Given the description of an element on the screen output the (x, y) to click on. 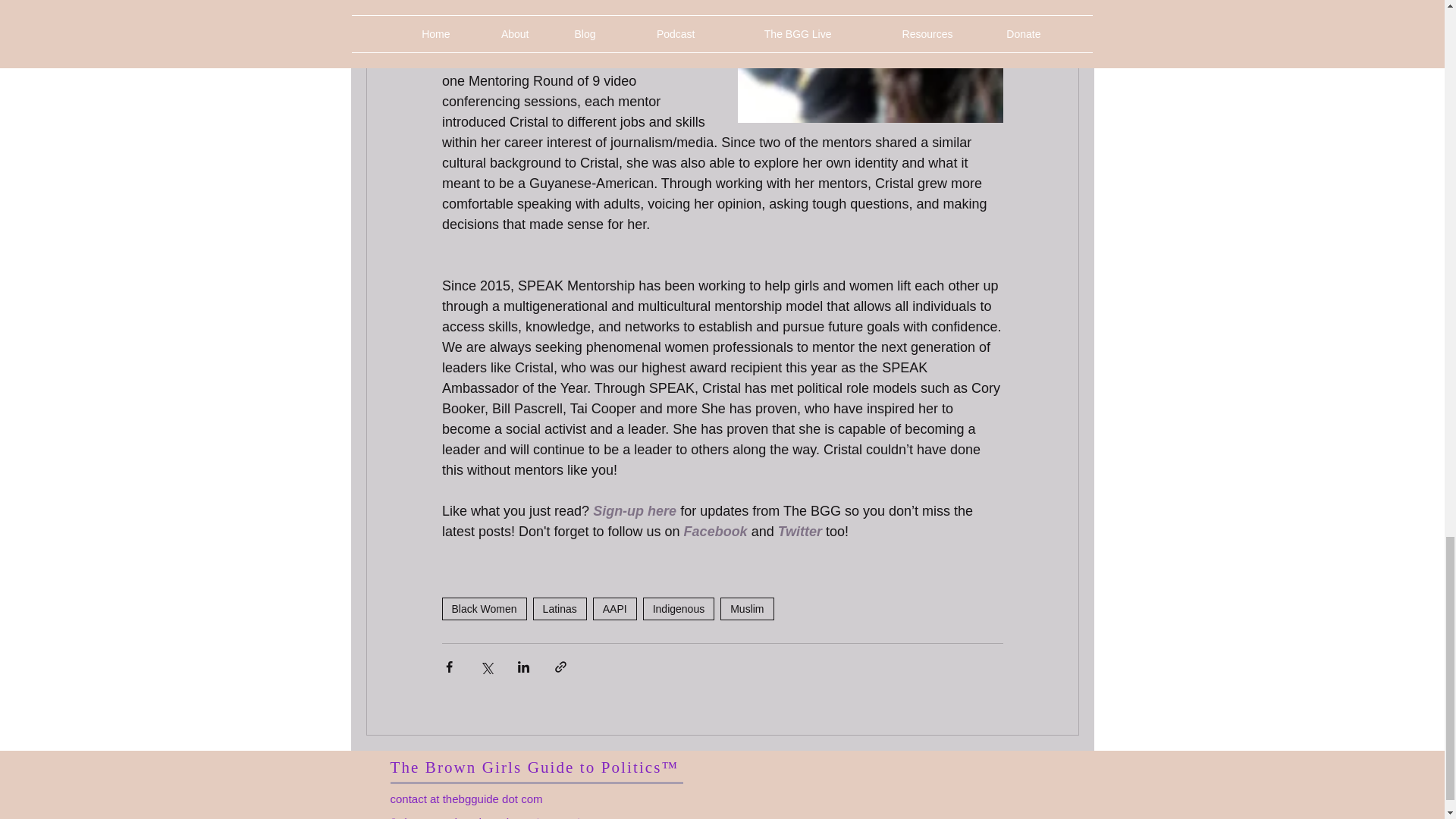
AAPI (614, 608)
Indigenous (678, 608)
Twitter (799, 531)
Latinas (559, 608)
Facebook (714, 531)
Sign-up here (634, 510)
Black Women (483, 608)
Muslim (746, 608)
